Given the description of an element on the screen output the (x, y) to click on. 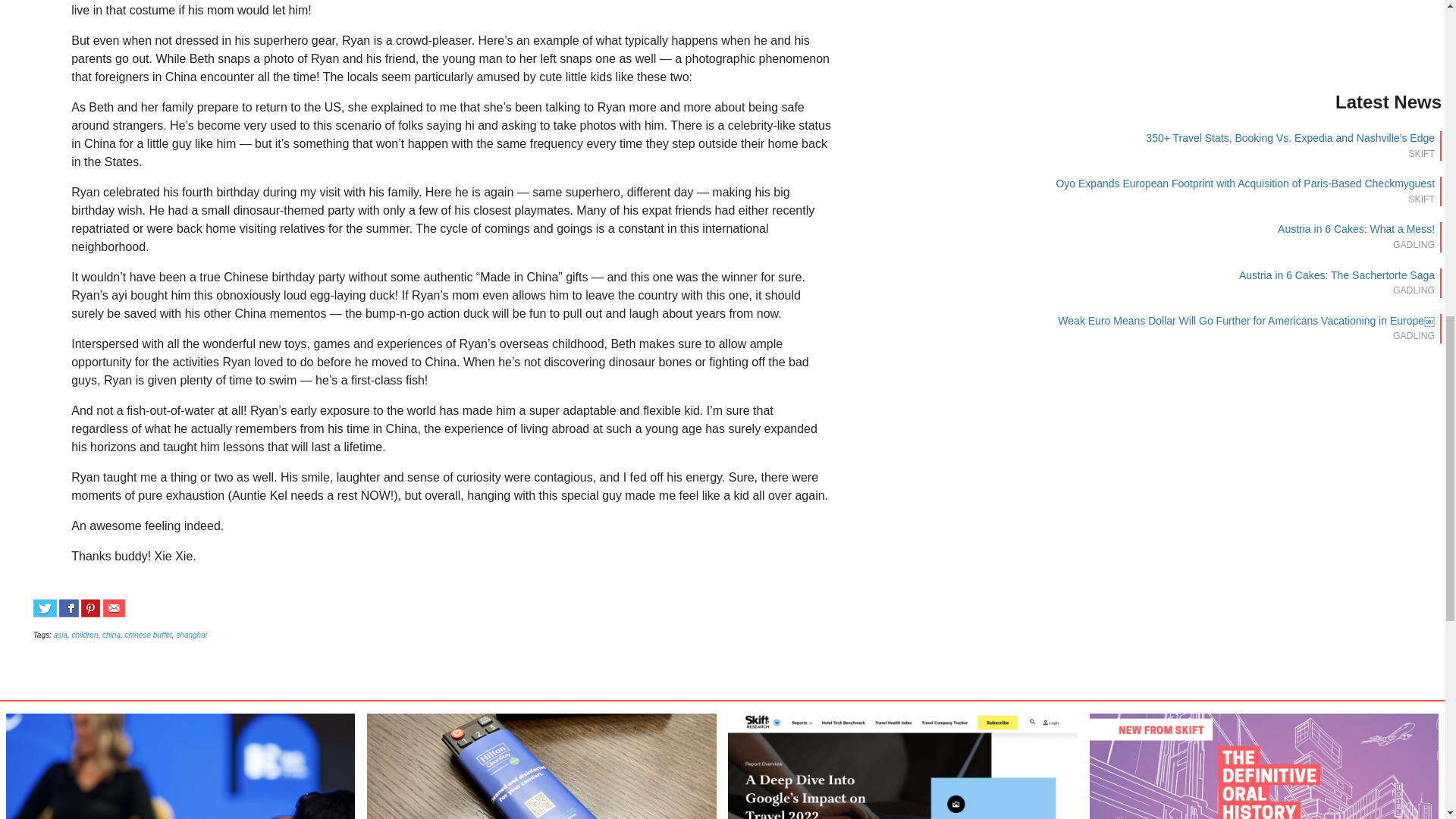
Share on Pinterest (90, 607)
Austria in 6 Cakes: What a Mess! (1356, 228)
Share on Facebook (68, 607)
Share via email (114, 607)
Austria in 6 Cakes: The Sachertorte Saga (1336, 275)
Share on Twitter (44, 607)
